Given the description of an element on the screen output the (x, y) to click on. 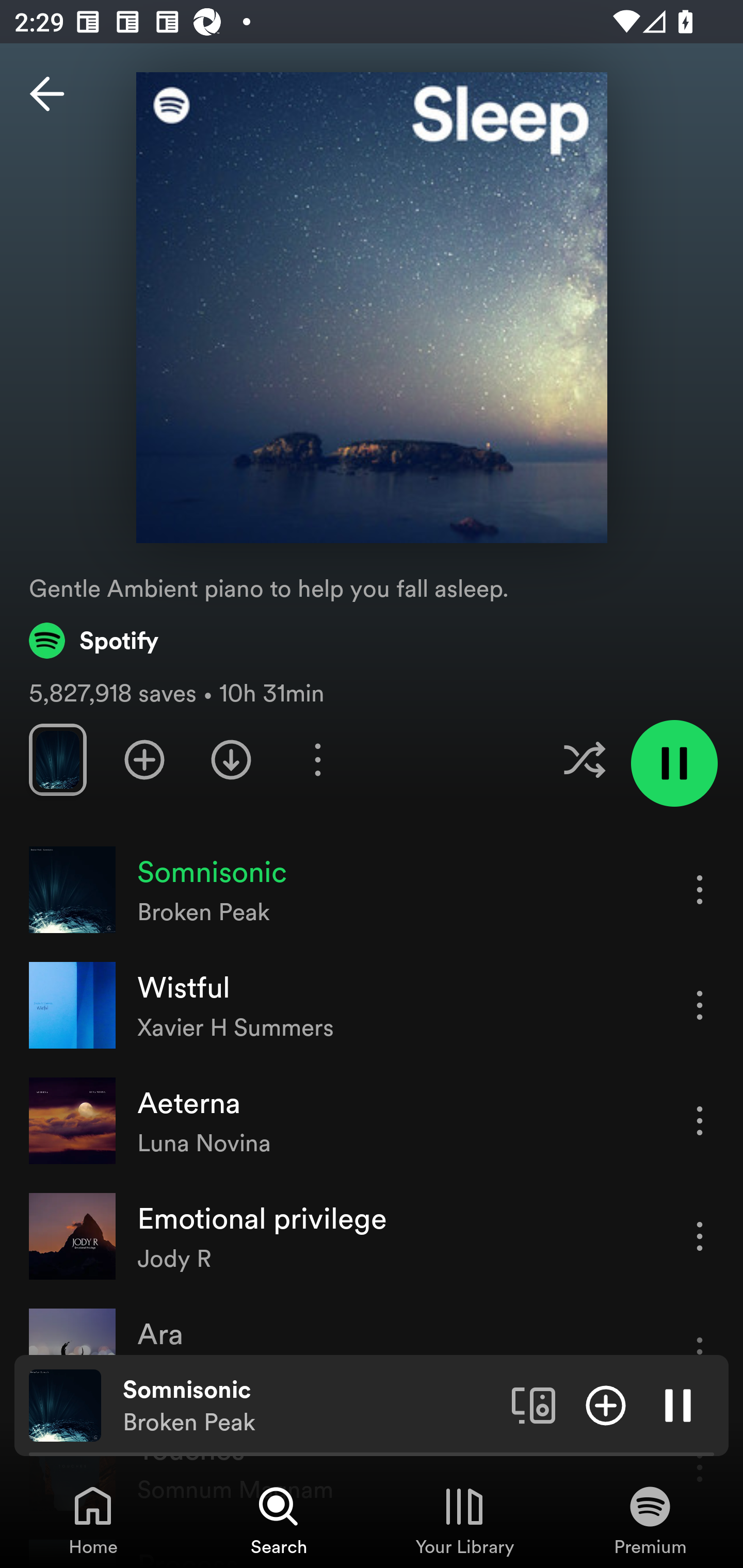
Back (46, 93)
Spotify (93, 640)
Swipe through previews of tracks in this playlist. (57, 759)
Add playlist to Your Library (144, 759)
Download (230, 759)
More options for playlist Sleep (317, 759)
Enable shuffle for this playlist (583, 759)
Pause playlist (674, 763)
More options for song Somnisonic (699, 889)
More options for song Wistful (699, 1004)
Aeterna Luna Novina More options for song Aeterna (371, 1121)
More options for song Aeterna (699, 1120)
More options for song Emotional privilege (699, 1236)
Somnisonic Broken Peak (309, 1405)
The cover art of the currently playing track (64, 1404)
Connect to a device. Opens the devices menu (533, 1404)
Add item (605, 1404)
Pause (677, 1404)
Home, Tab 1 of 4 Home Home (92, 1519)
Search, Tab 2 of 4 Search Search (278, 1519)
Your Library, Tab 3 of 4 Your Library Your Library (464, 1519)
Premium, Tab 4 of 4 Premium Premium (650, 1519)
